Given the description of an element on the screen output the (x, y) to click on. 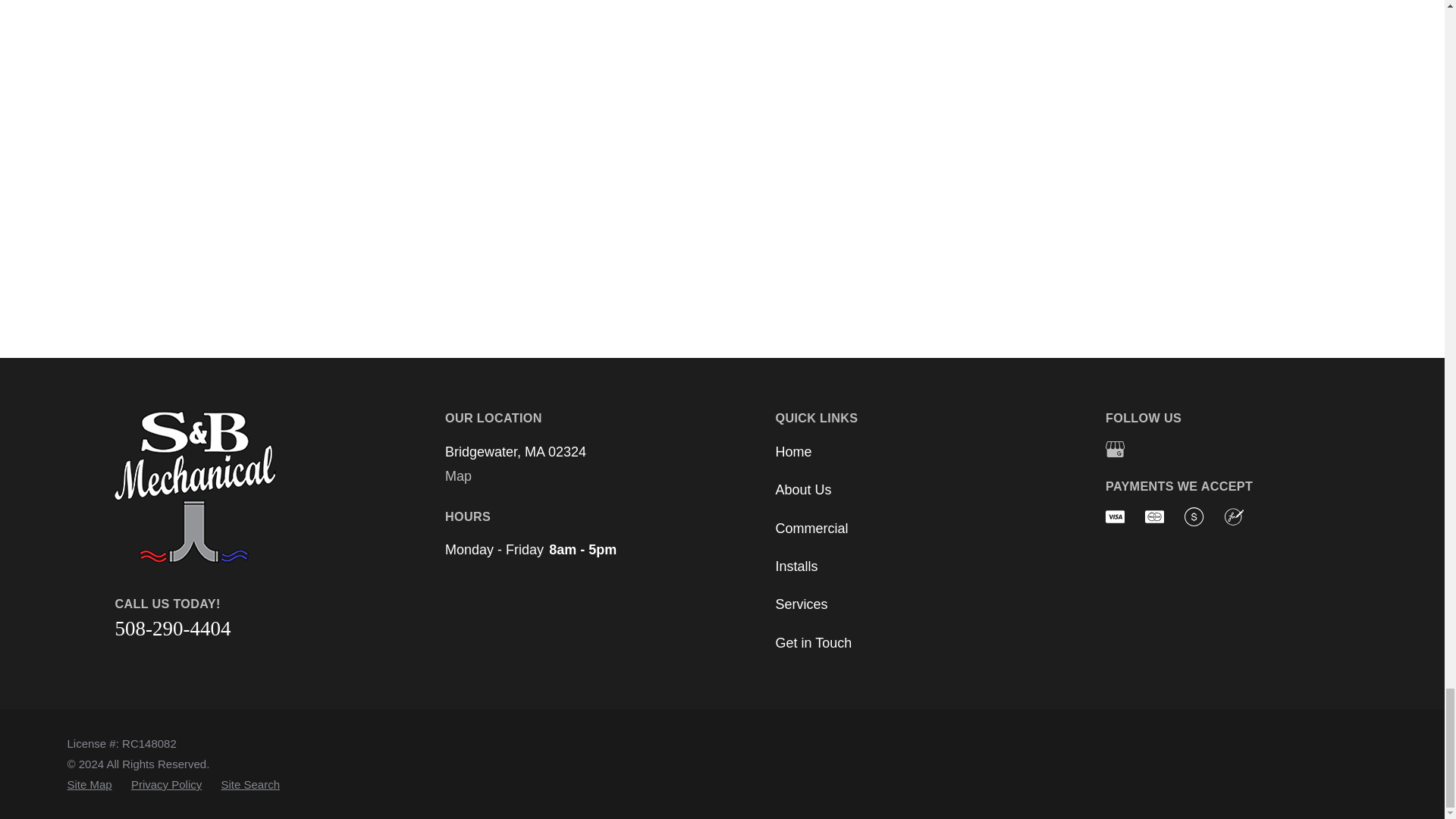
Visa (1114, 516)
Google Business Profile (1114, 448)
Cash (1194, 516)
MasterCard (1153, 516)
Check (1233, 516)
Home (224, 486)
